Given the description of an element on the screen output the (x, y) to click on. 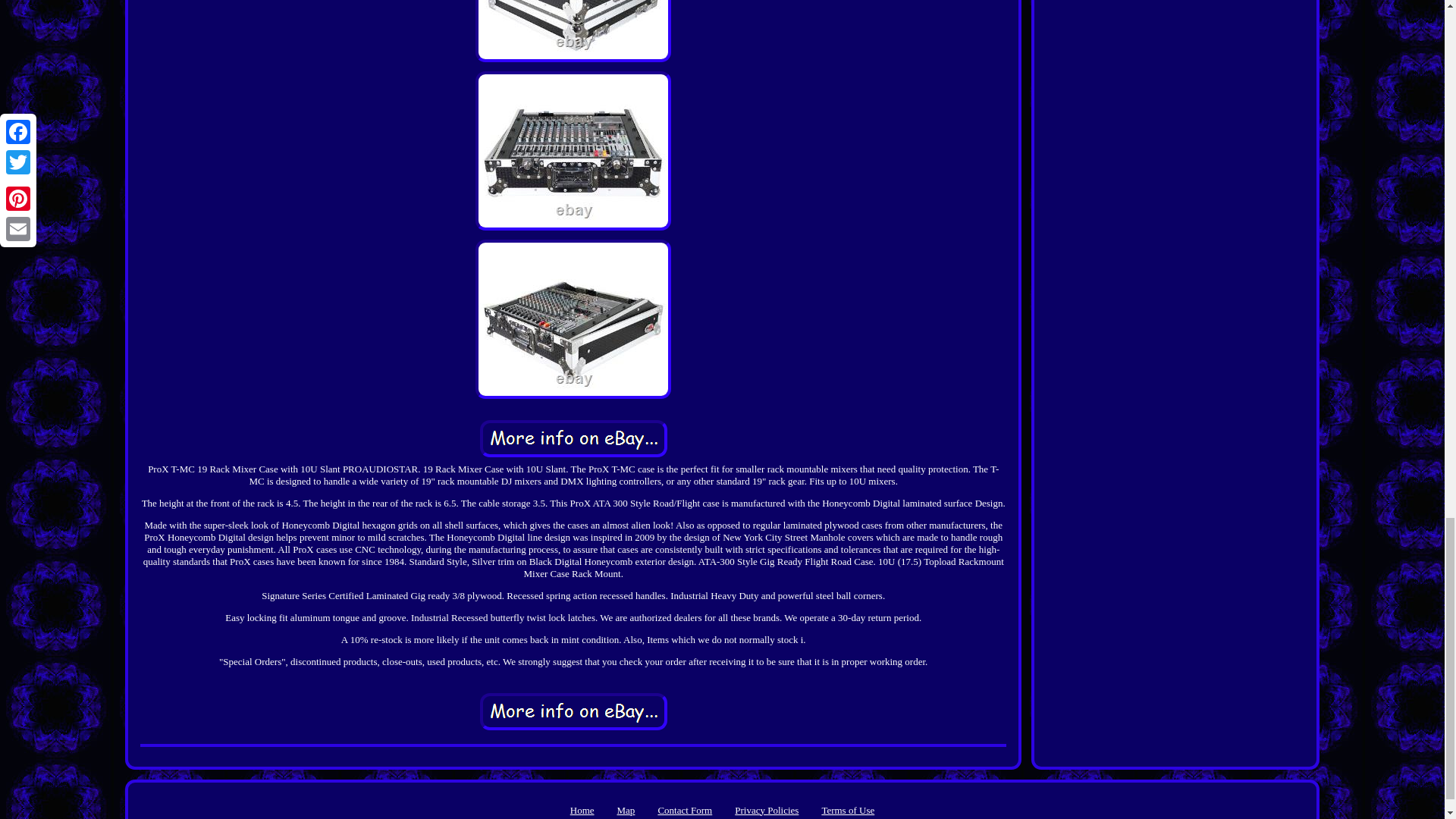
ProX T-MC 19 Rack Mixer Case with 10U Slant PROAUDIOSTAR (573, 150)
ProX T-MC 19 Rack Mixer Case with 10U Slant PROAUDIOSTAR (573, 438)
ProX T-MC 19 Rack Mixer Case with 10U Slant PROAUDIOSTAR (573, 711)
ProX T-MC 19 Rack Mixer Case with 10U Slant PROAUDIOSTAR (573, 318)
ProX T-MC 19 Rack Mixer Case with 10U Slant PROAUDIOSTAR (573, 31)
